Given the description of an element on the screen output the (x, y) to click on. 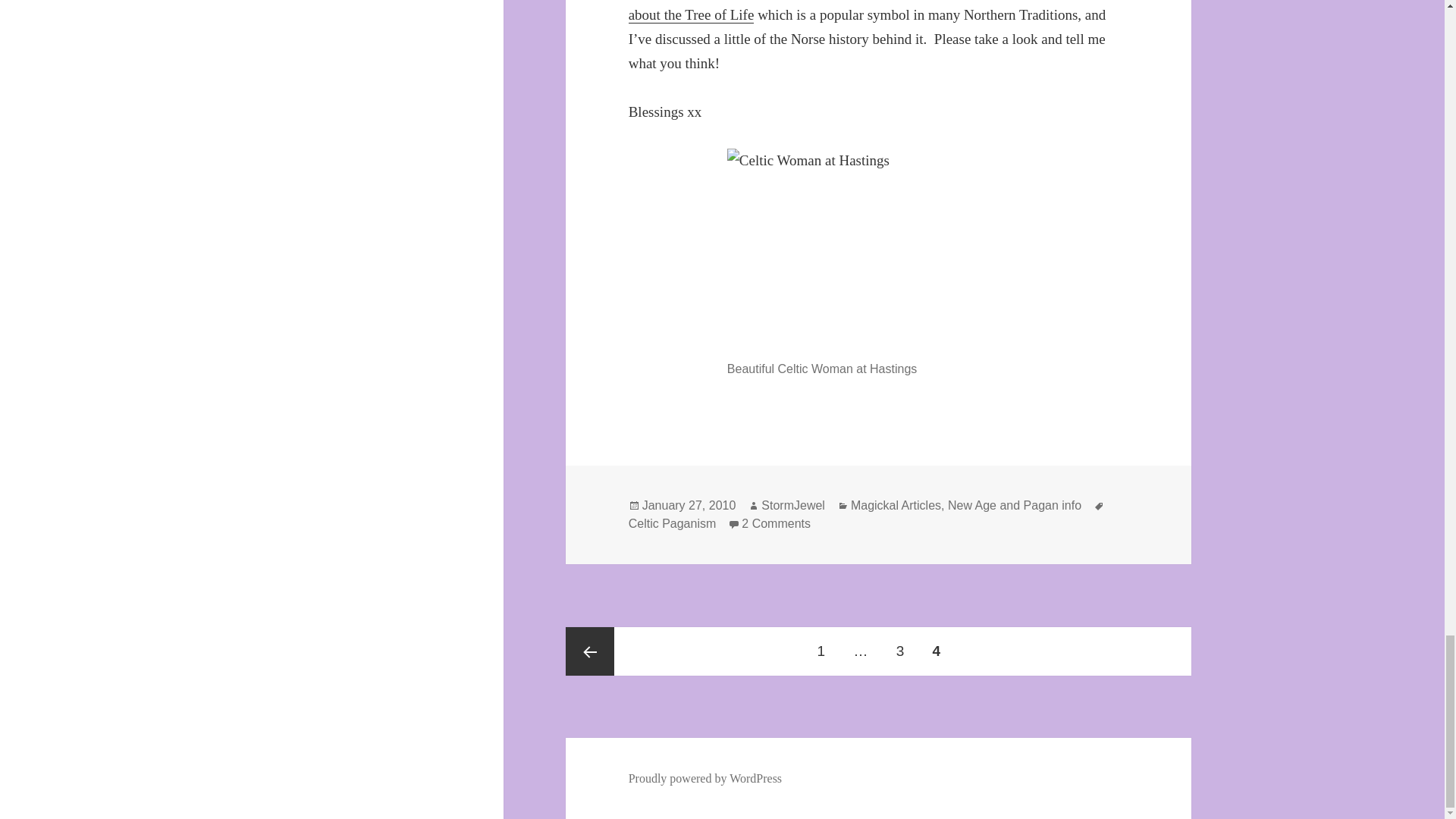
Celtic Paganism (876, 11)
Celtic Woman at Hastings (878, 250)
